Given the description of an element on the screen output the (x, y) to click on. 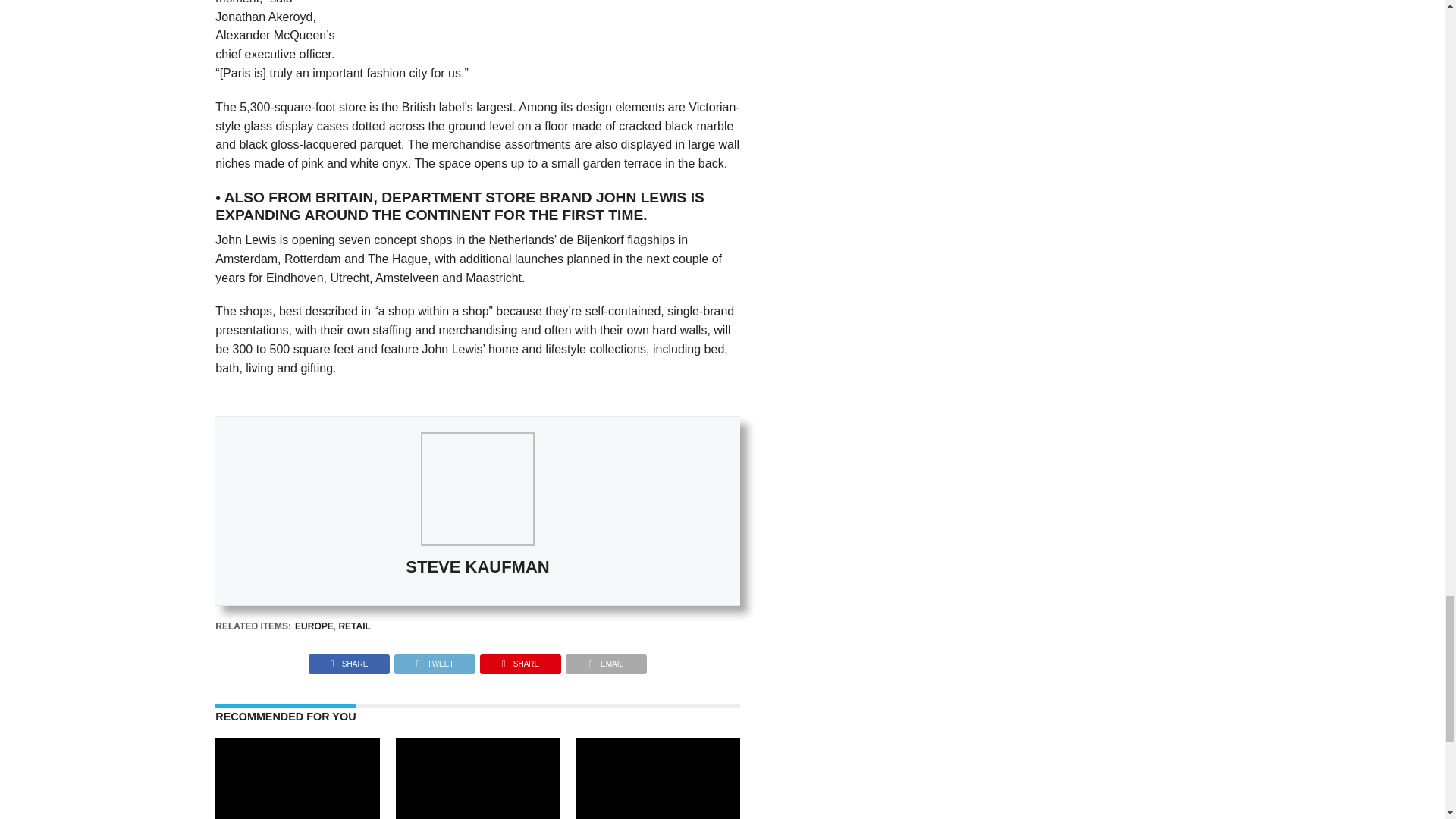
Share on Facebook (349, 659)
Pin This Post (520, 659)
Tweet This Post (434, 659)
